Given the description of an element on the screen output the (x, y) to click on. 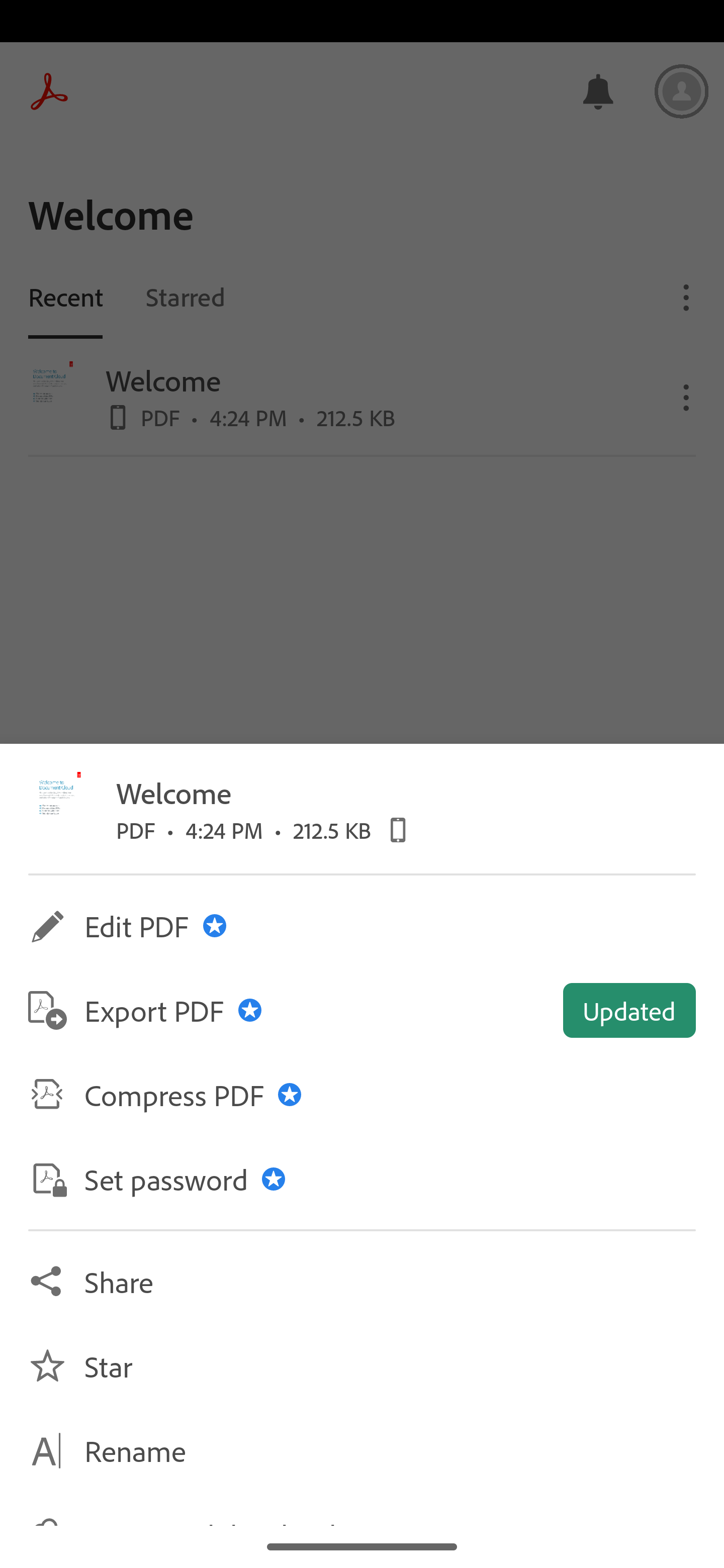
Edit PDF Premium (362, 924)
Export PDF Premium Updated (362, 1009)
Compress PDF Premium (362, 1094)
Set password Premium (362, 1178)
Share (362, 1280)
Star (362, 1365)
Rename (362, 1450)
